Given the description of an element on the screen output the (x, y) to click on. 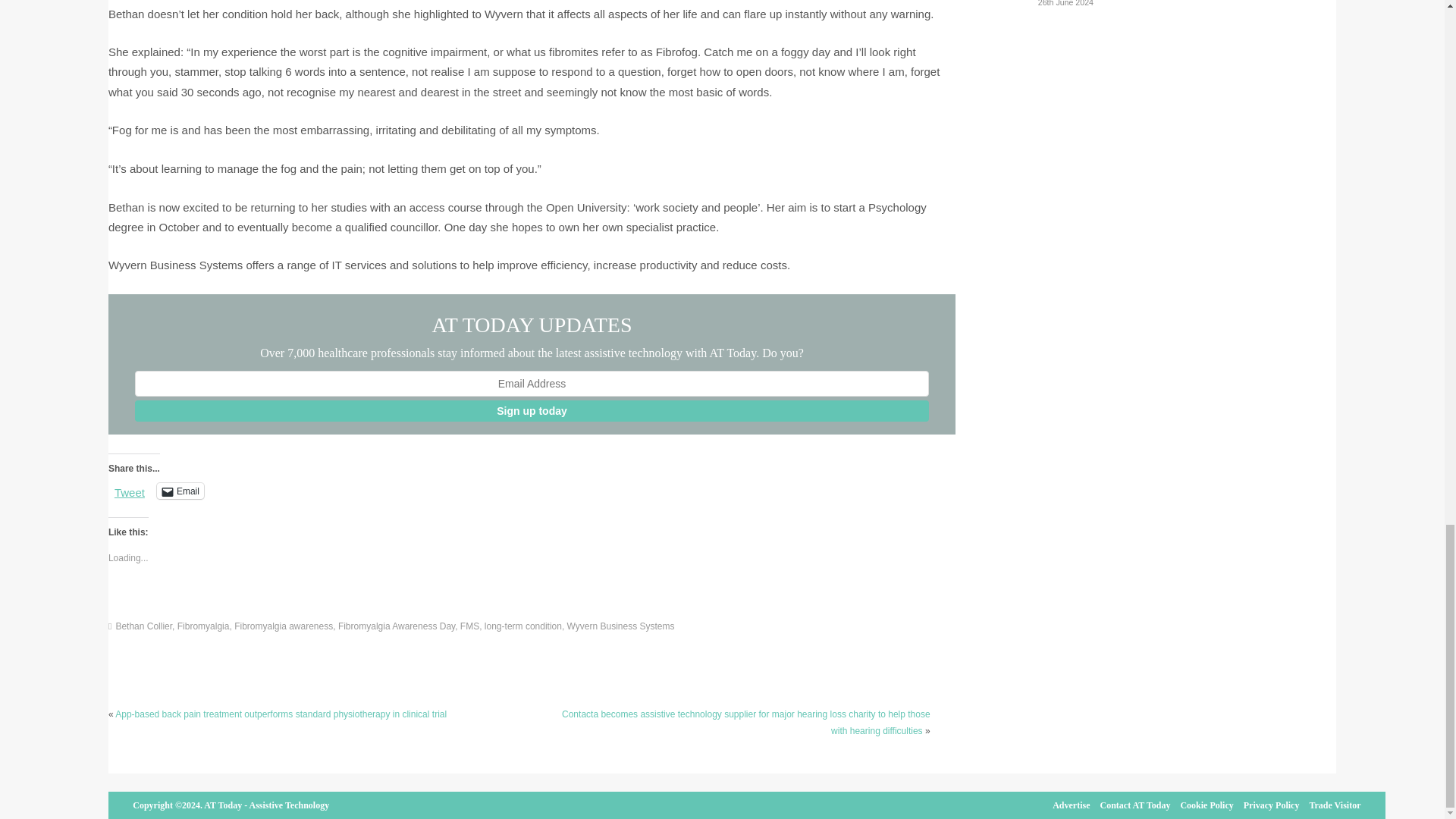
Sign up today (531, 410)
